Given the description of an element on the screen output the (x, y) to click on. 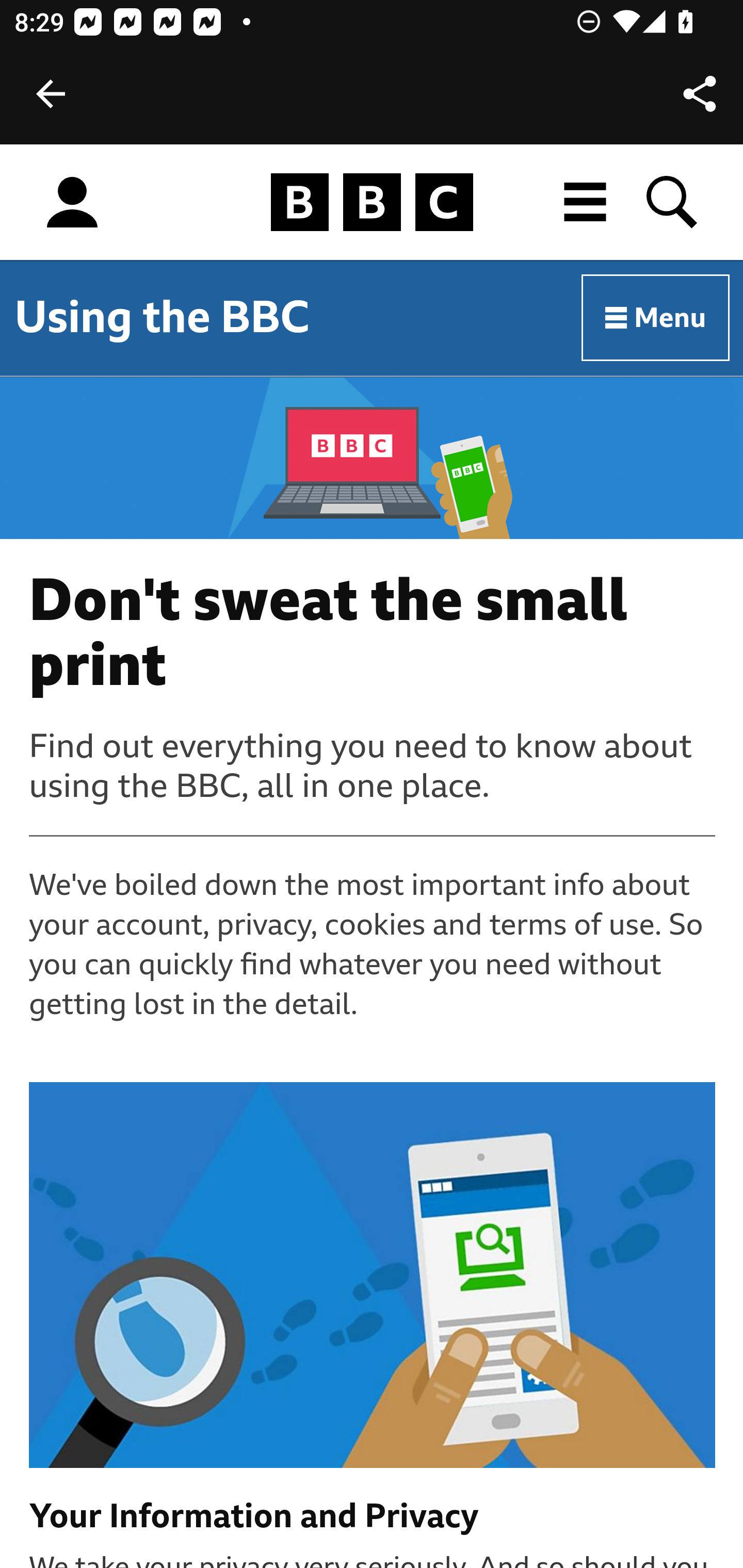
Back (50, 93)
Share (699, 93)
All BBC destinations menu (585, 202)
Search BBC (672, 202)
Sign in (71, 203)
Homepage (371, 203)
Menu (656, 318)
Using the BBC (162, 317)
Your Information and Privacy (372, 1516)
